Given the description of an element on the screen output the (x, y) to click on. 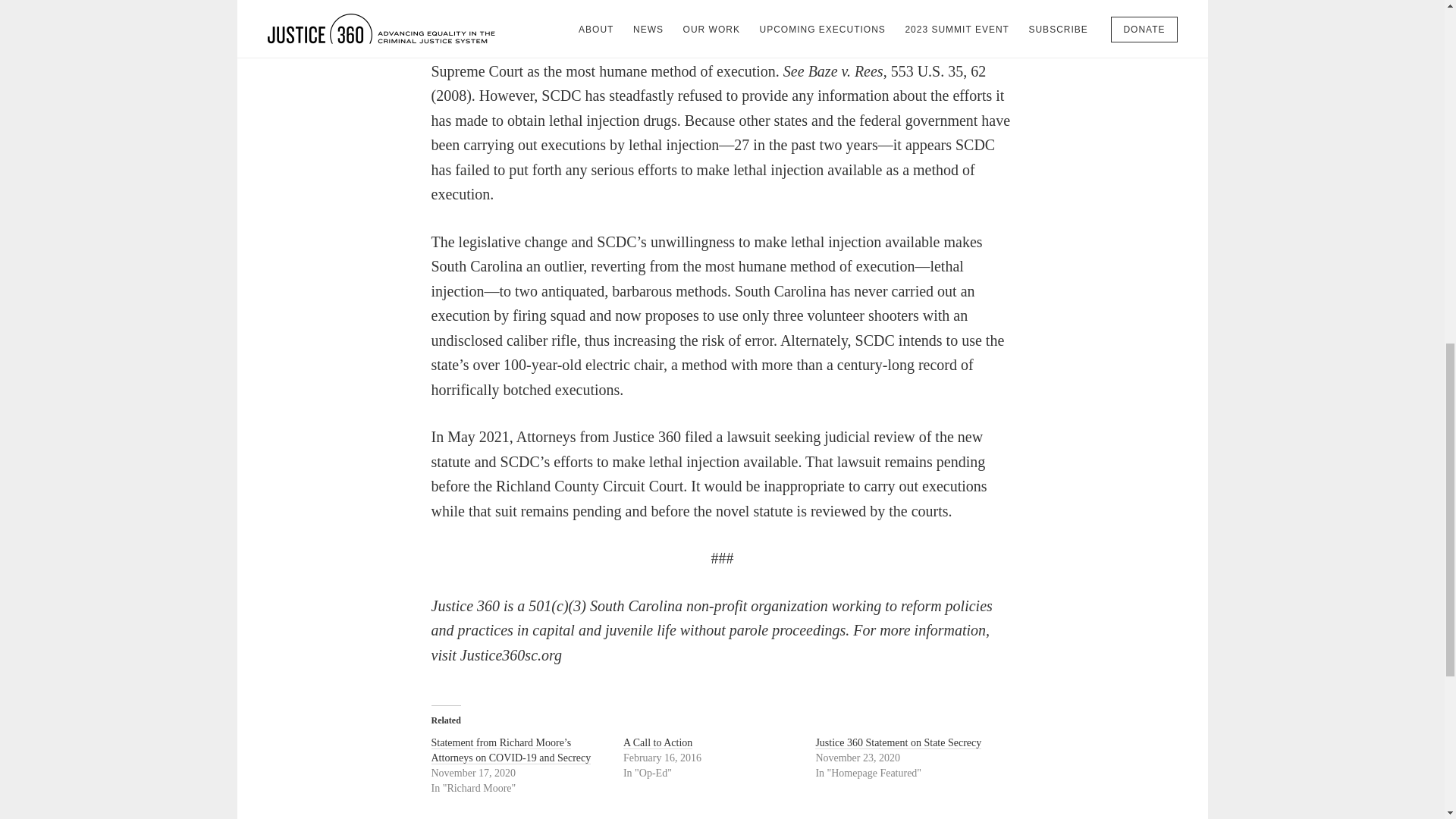
Justice 360 Statement on State Secrecy (898, 743)
A Call to Action (658, 743)
A Call to Action (658, 743)
Justice 360 Statement on State Secrecy (898, 743)
